Given the description of an element on the screen output the (x, y) to click on. 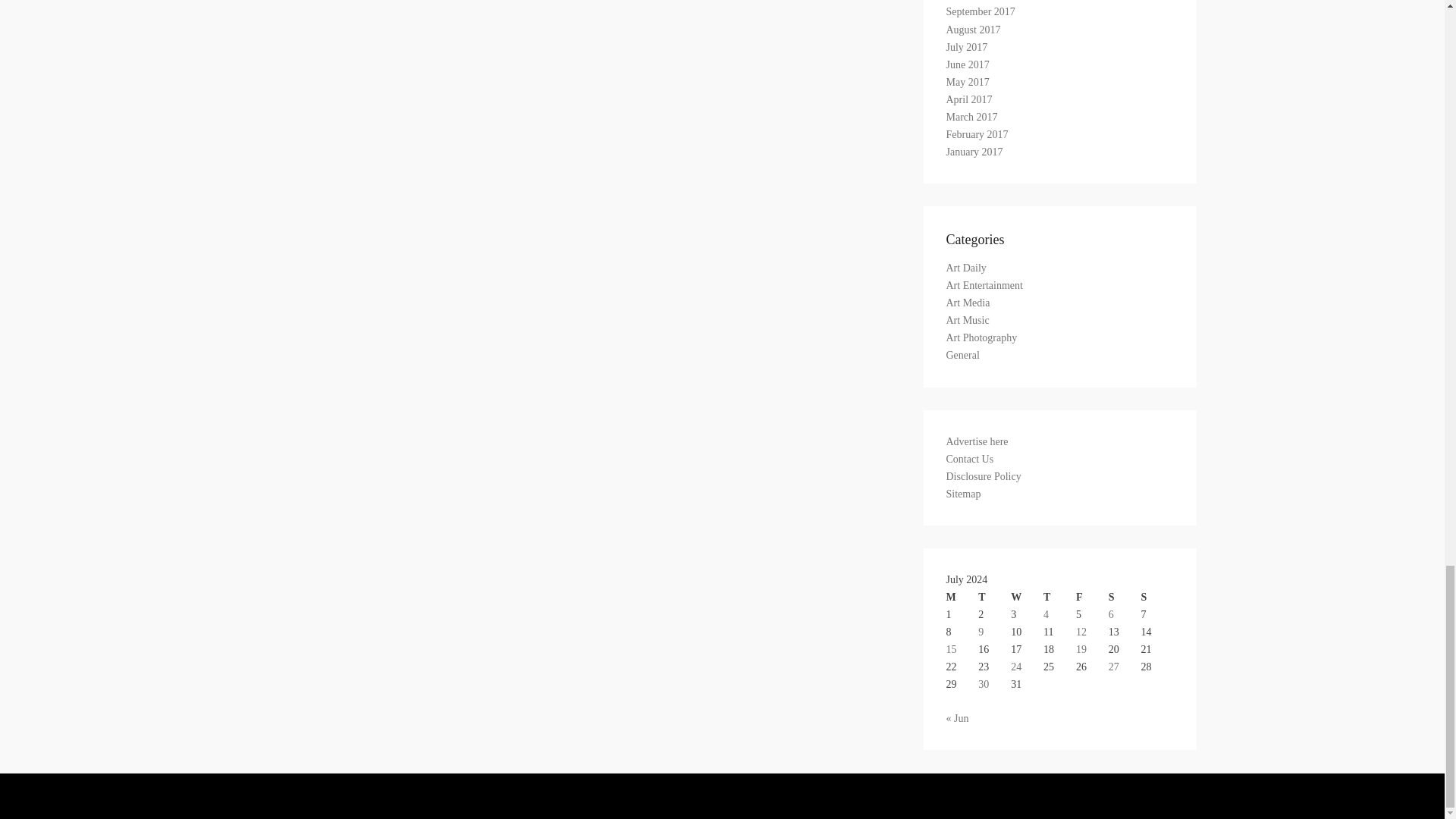
Saturday (1124, 597)
Monday (962, 597)
Tuesday (994, 597)
Friday (1091, 597)
Thursday (1059, 597)
Sunday (1157, 597)
Wednesday (1026, 597)
